Given the description of an element on the screen output the (x, y) to click on. 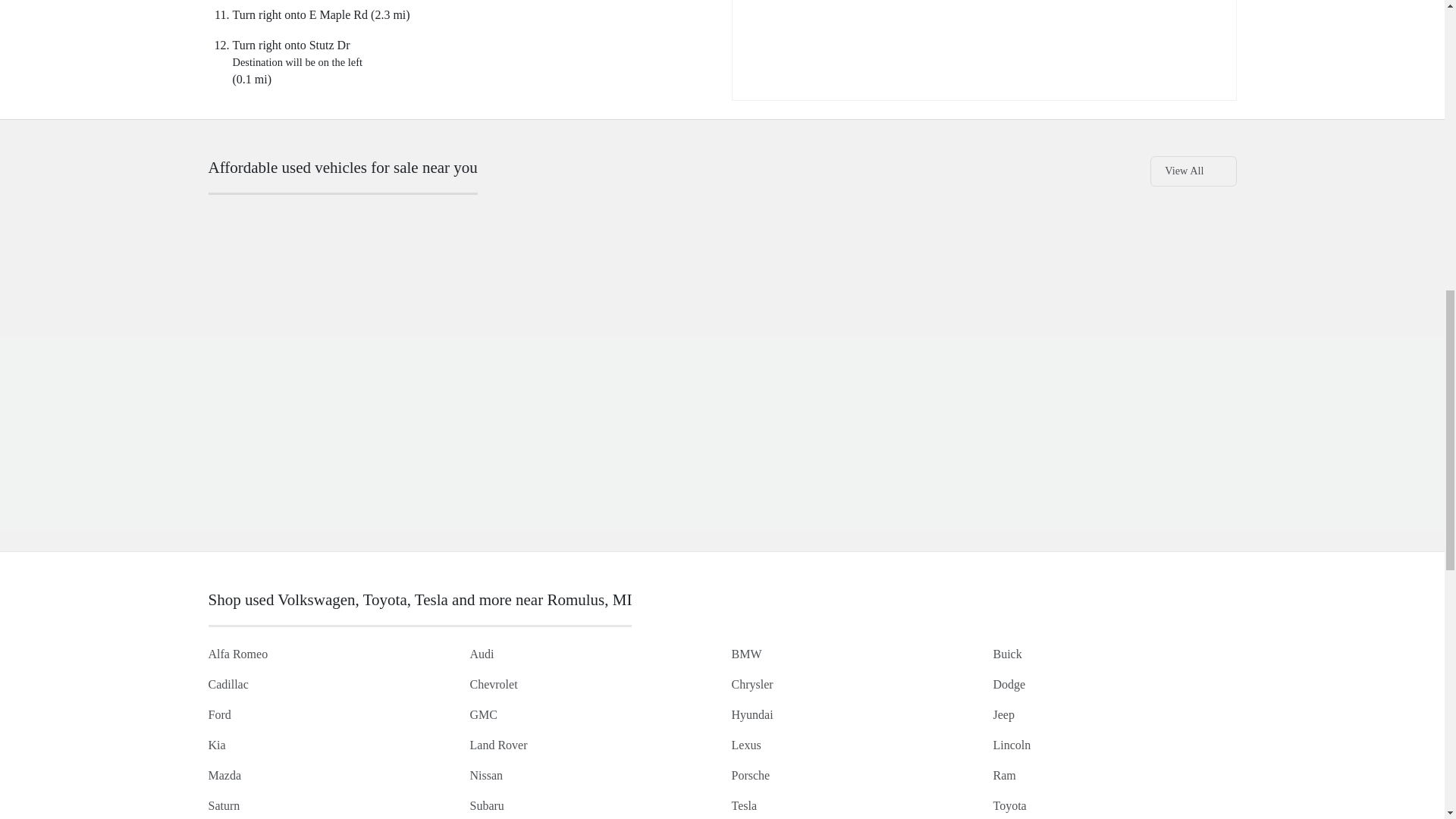
Chrysler (751, 684)
View All (1193, 170)
Lincoln (1011, 744)
GMC (483, 714)
Buick (1007, 653)
BMW (745, 653)
Cadillac (227, 684)
Chevrolet (494, 684)
Dodge (1009, 684)
Nissan (486, 775)
